Given the description of an element on the screen output the (x, y) to click on. 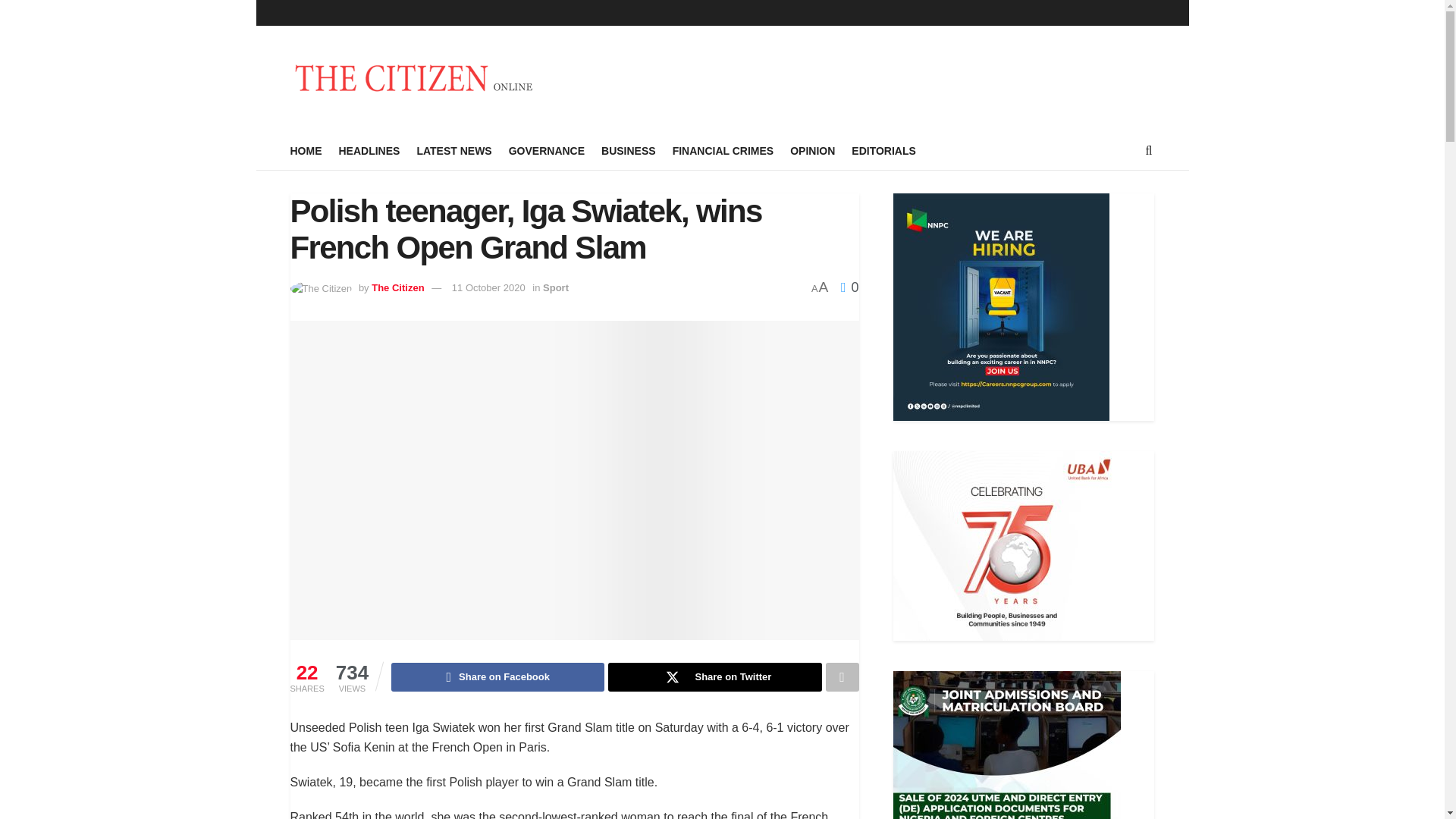
HEADLINES (367, 150)
Sport (556, 287)
HOME (305, 150)
OPINION (812, 150)
EDITORIALS (883, 150)
Share on Facebook (497, 676)
Share on Twitter (714, 676)
0 (850, 287)
The Citizen (397, 287)
FINANCIAL CRIMES (723, 150)
